Given the description of an element on the screen output the (x, y) to click on. 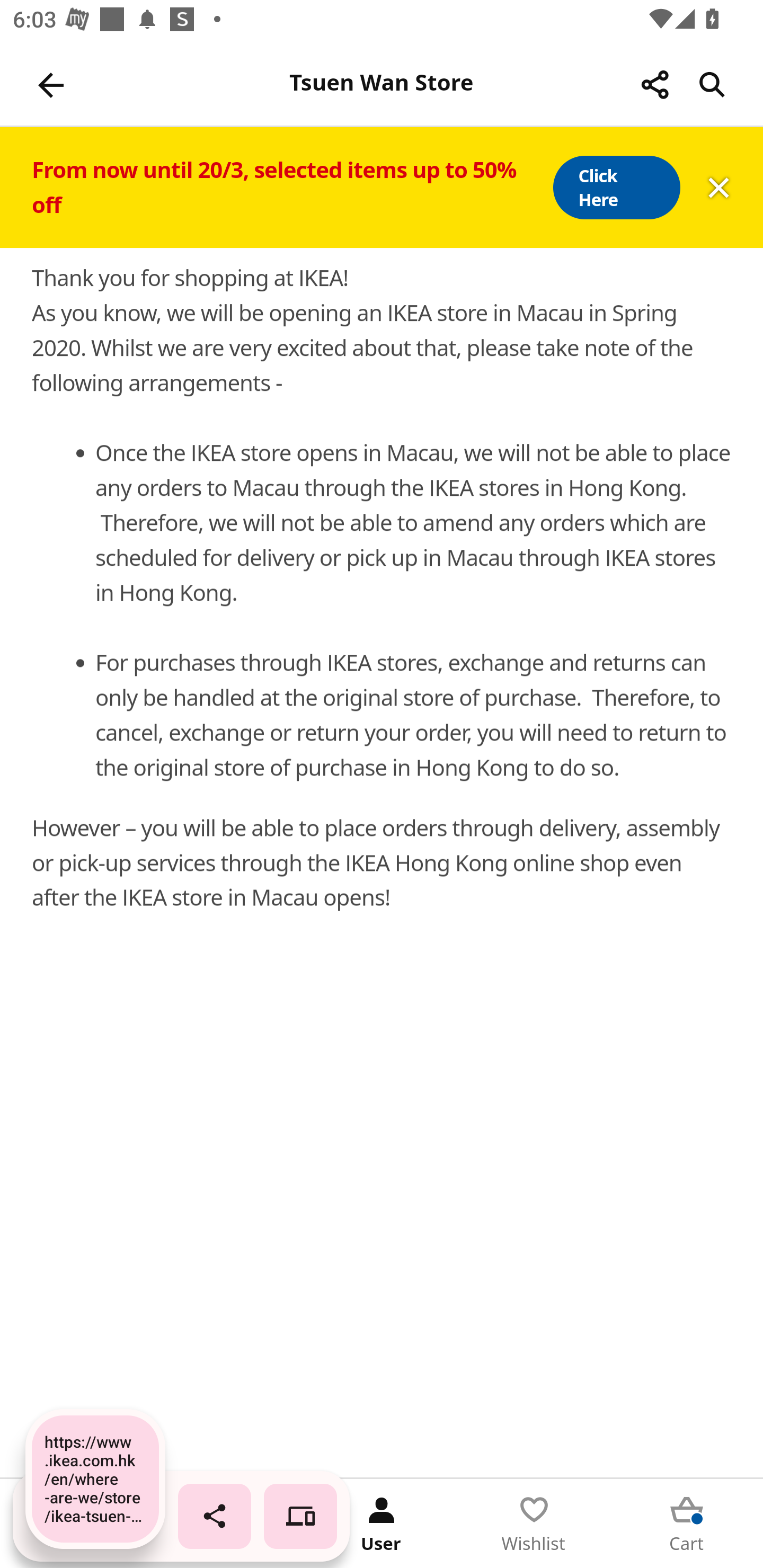
Click Here (615, 187)
User
Tab 3 of 5 (381, 1522)
Wishlist
Tab 4 of 5 (533, 1522)
Cart
Tab 5 of 5 (686, 1522)
